Given the description of an element on the screen output the (x, y) to click on. 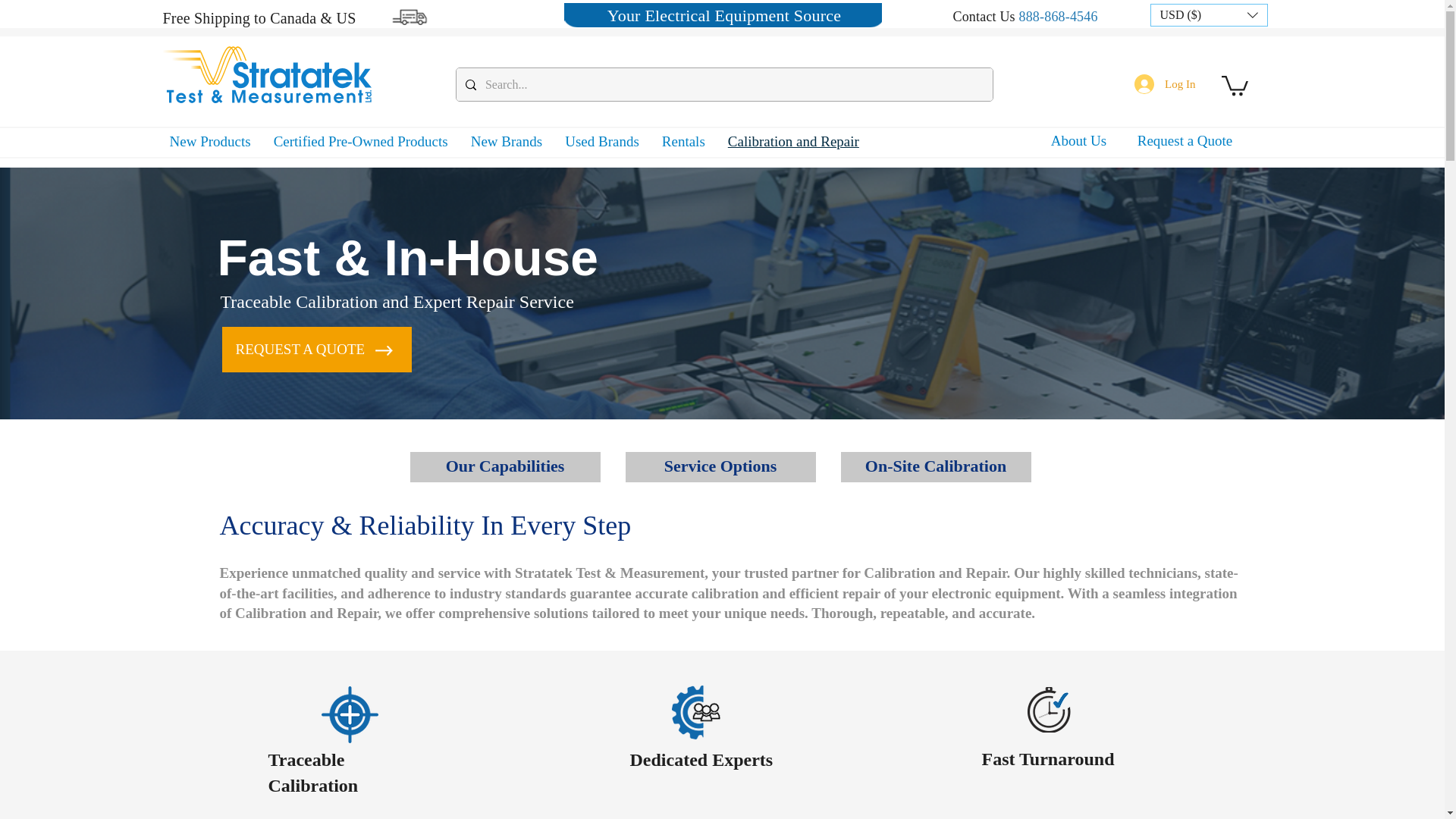
Contact Us 888-868-4546 (1024, 16)
Fast Turnaround on Calibration and Repair Services (1048, 709)
Certified Pre-Owned Products (360, 141)
Stratatek Calibration Services (349, 714)
Stratatek Dedicated Experts (705, 712)
Log In (1164, 83)
New Products (209, 141)
